Given the description of an element on the screen output the (x, y) to click on. 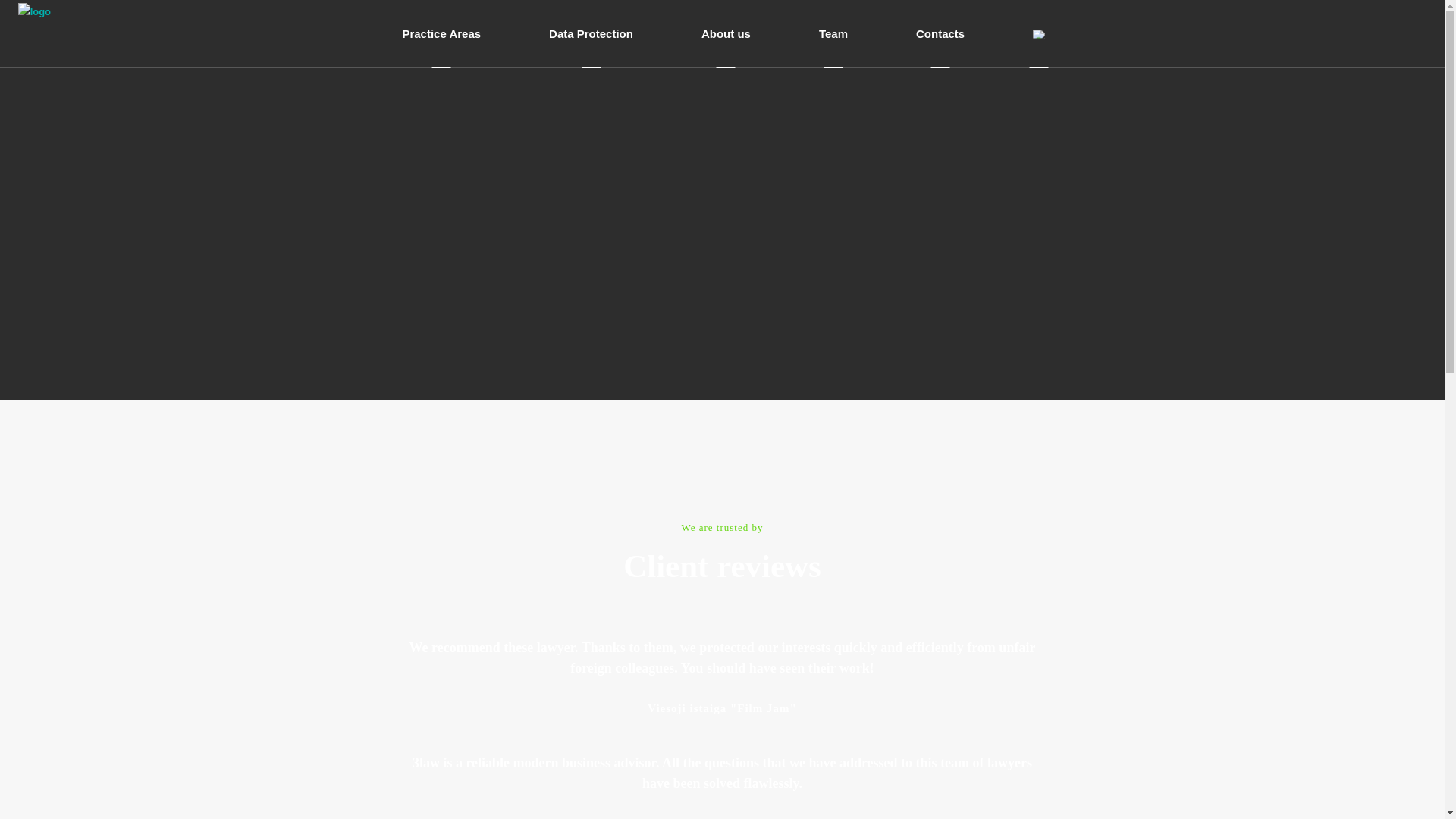
Practice Areas (441, 33)
Contacts (940, 33)
About us (725, 33)
English (1038, 34)
Data Protection (590, 33)
Team (833, 33)
